Given the description of an element on the screen output the (x, y) to click on. 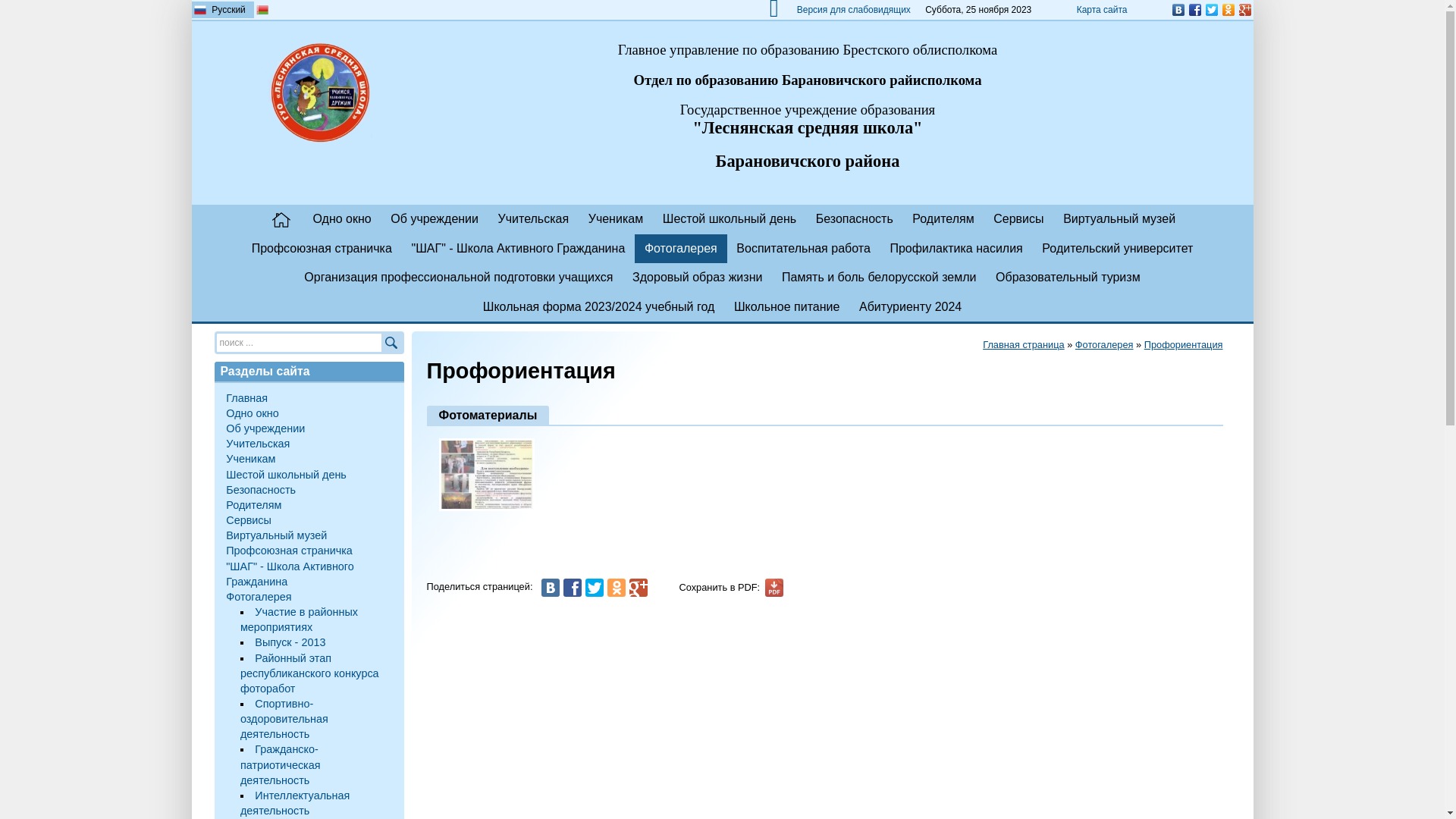
Twitter Element type: hover (1210, 9)
Google Plus Element type: hover (1244, 9)
Facebook Element type: hover (572, 587)
Google Plus Element type: hover (638, 587)
Facebook Element type: hover (1194, 9)
Twitter Element type: hover (594, 587)
